Given the description of an element on the screen output the (x, y) to click on. 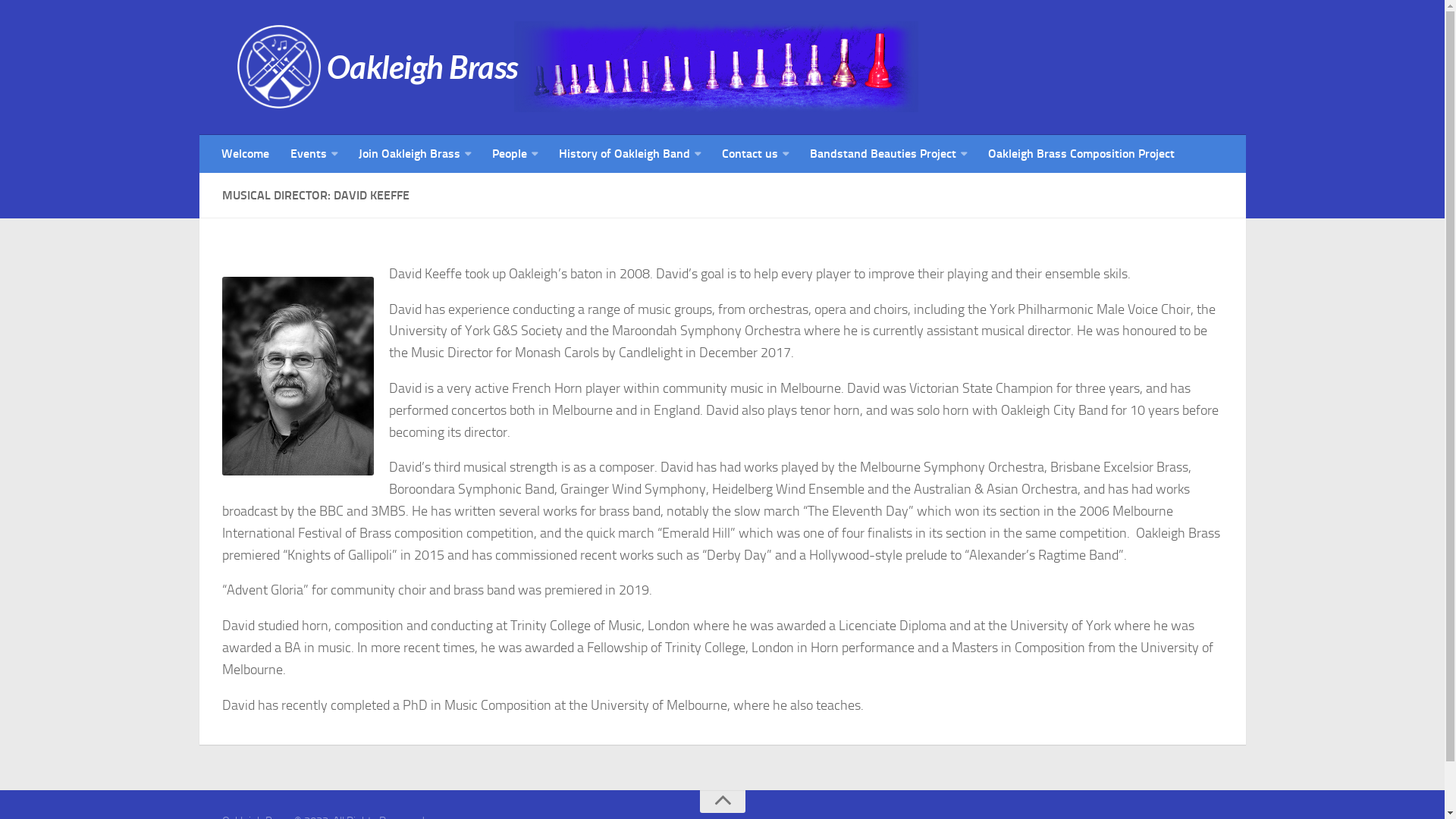
Events Element type: text (313, 153)
Bandstand Beauties Project Element type: text (888, 153)
Join Oakleigh Brass Element type: text (413, 153)
People Element type: text (513, 153)
Oakleigh Brass Element type: text (691, 66)
Oakleigh Brass Composition Project Element type: text (1080, 153)
Welcome Element type: text (244, 153)
History of Oakleigh Band Element type: text (628, 153)
Contact us Element type: text (755, 153)
